Given the description of an element on the screen output the (x, y) to click on. 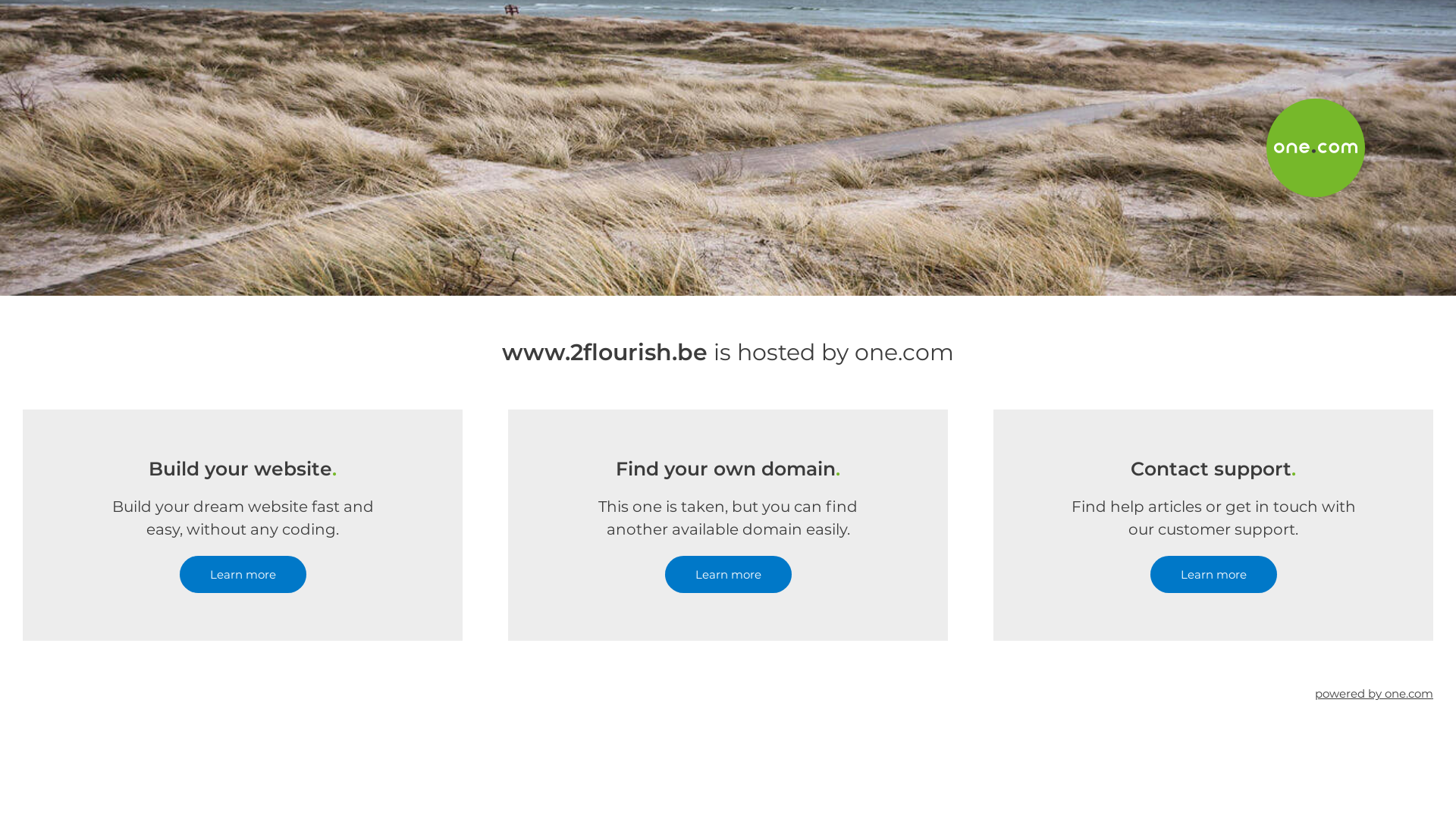
Learn more Element type: text (727, 574)
powered by one.com Element type: text (1373, 693)
Learn more Element type: text (241, 574)
Learn more Element type: text (1212, 574)
